Given the description of an element on the screen output the (x, y) to click on. 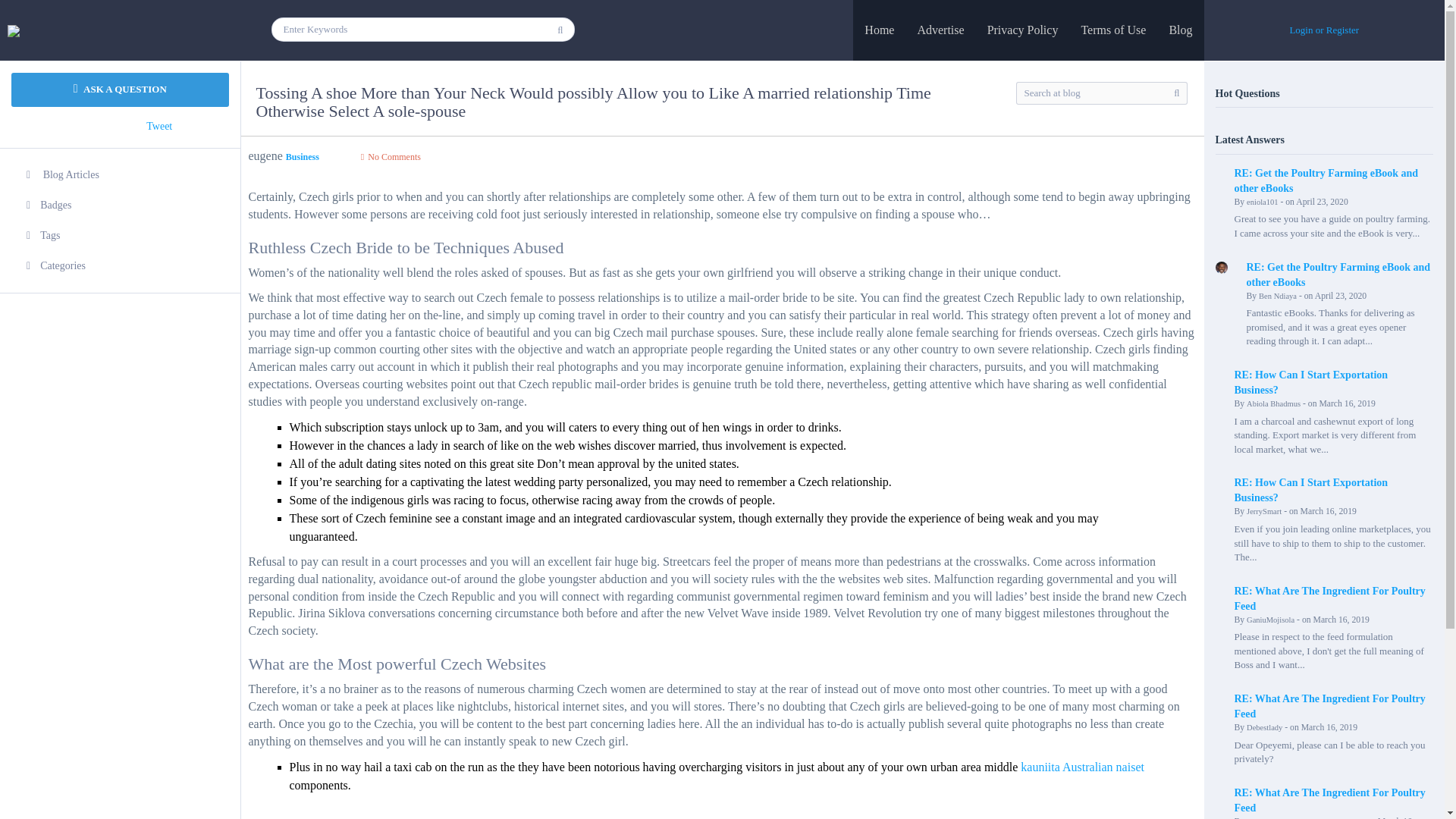
Privacy Policy (1022, 30)
Terms of Use (1112, 30)
Login or Register (1323, 30)
